Given the description of an element on the screen output the (x, y) to click on. 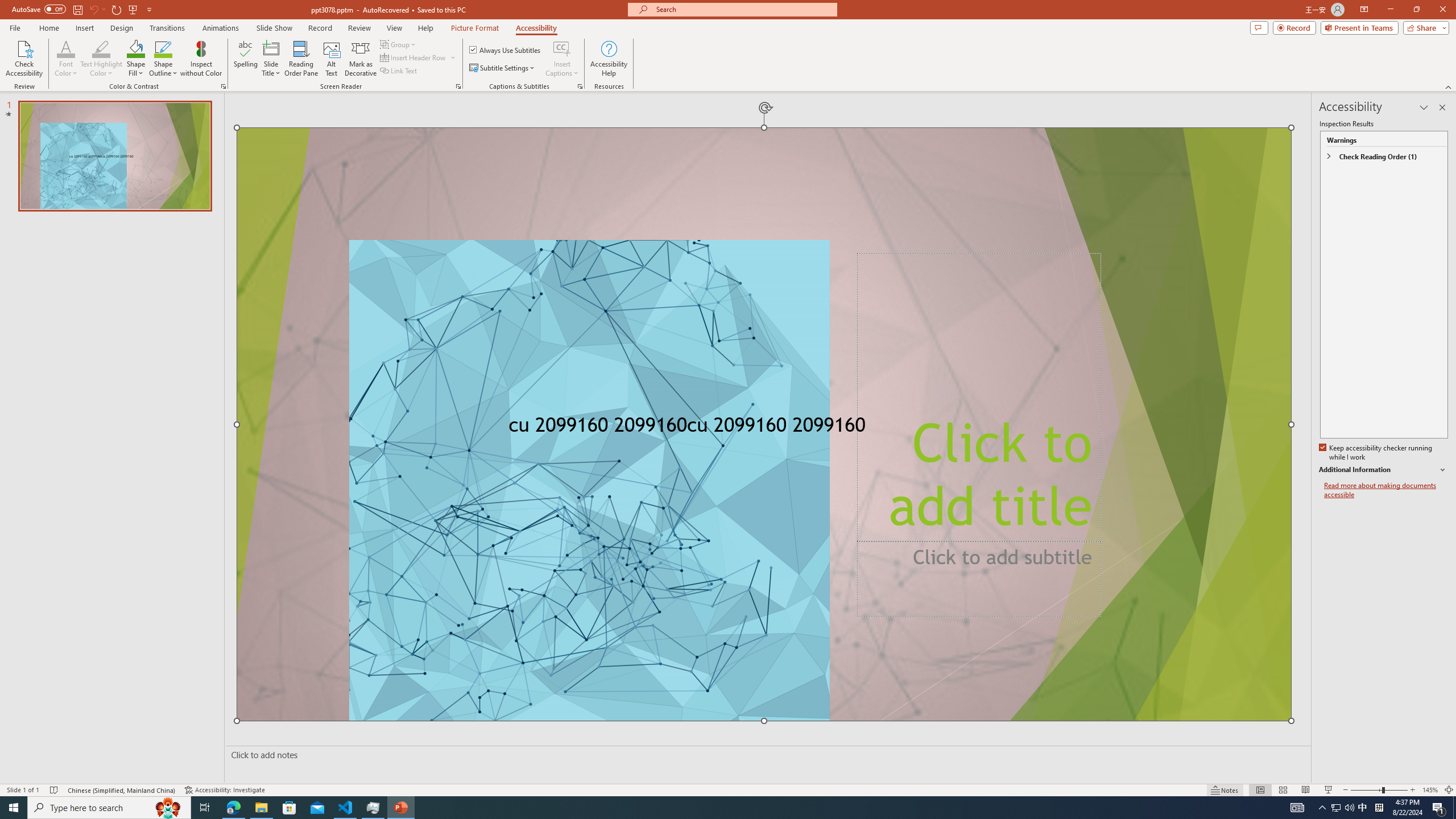
Subtitle Settings (502, 67)
Captions & Subtitles (580, 85)
